Given the description of an element on the screen output the (x, y) to click on. 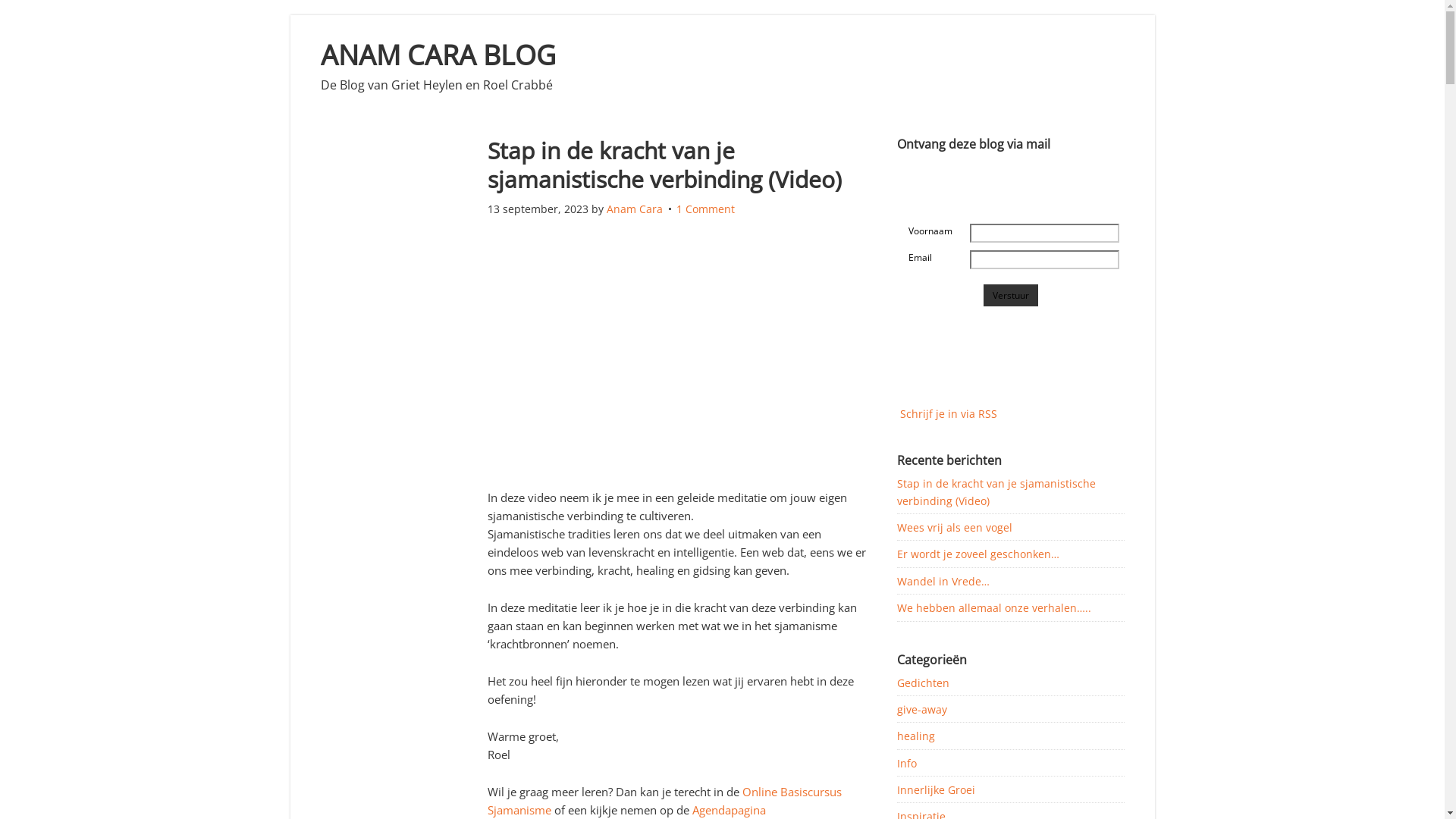
Stap In De Kracht Van Je Sjamanistische Verbinding Element type: hover (676, 361)
healing Element type: text (915, 735)
1 Comment Element type: text (705, 208)
Gedichten Element type: text (922, 682)
Wees vrij als een vogel Element type: text (953, 527)
Online Basiscursus Sjamanisme Element type: text (663, 800)
Stap in de kracht van je sjamanistische verbinding (Video) Element type: text (995, 491)
give-away Element type: text (921, 709)
Stap in de kracht van je sjamanistische verbinding (Video) Element type: text (663, 164)
Innerlijke Groei Element type: text (935, 789)
Info Element type: text (906, 763)
Schrijf je in via RSS Element type: text (947, 413)
Anam Cara Element type: text (634, 208)
Agendapagina Element type: text (728, 809)
Verstuur Element type: text (1009, 295)
ANAM CARA BLOG Element type: text (437, 54)
